Given the description of an element on the screen output the (x, y) to click on. 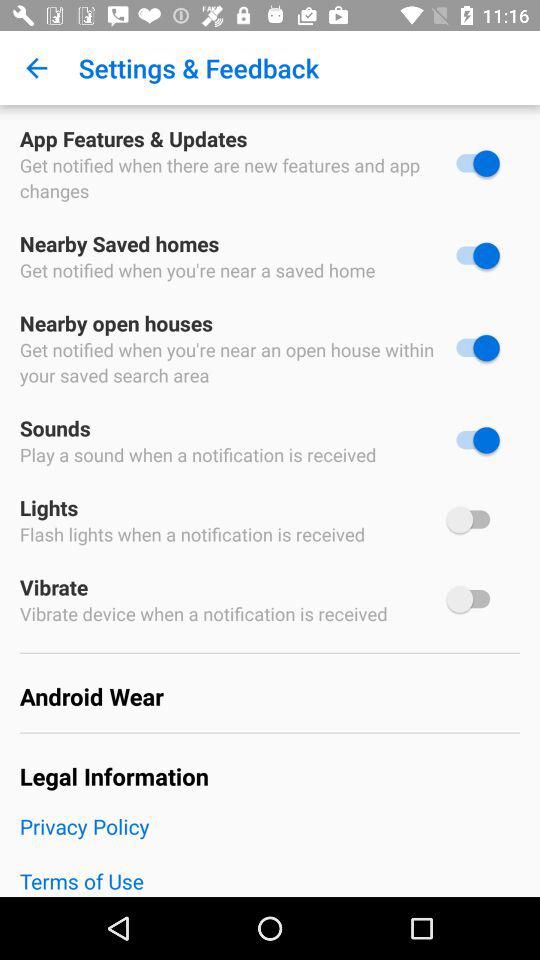
flip to the privacy policy (269, 839)
